Given the description of an element on the screen output the (x, y) to click on. 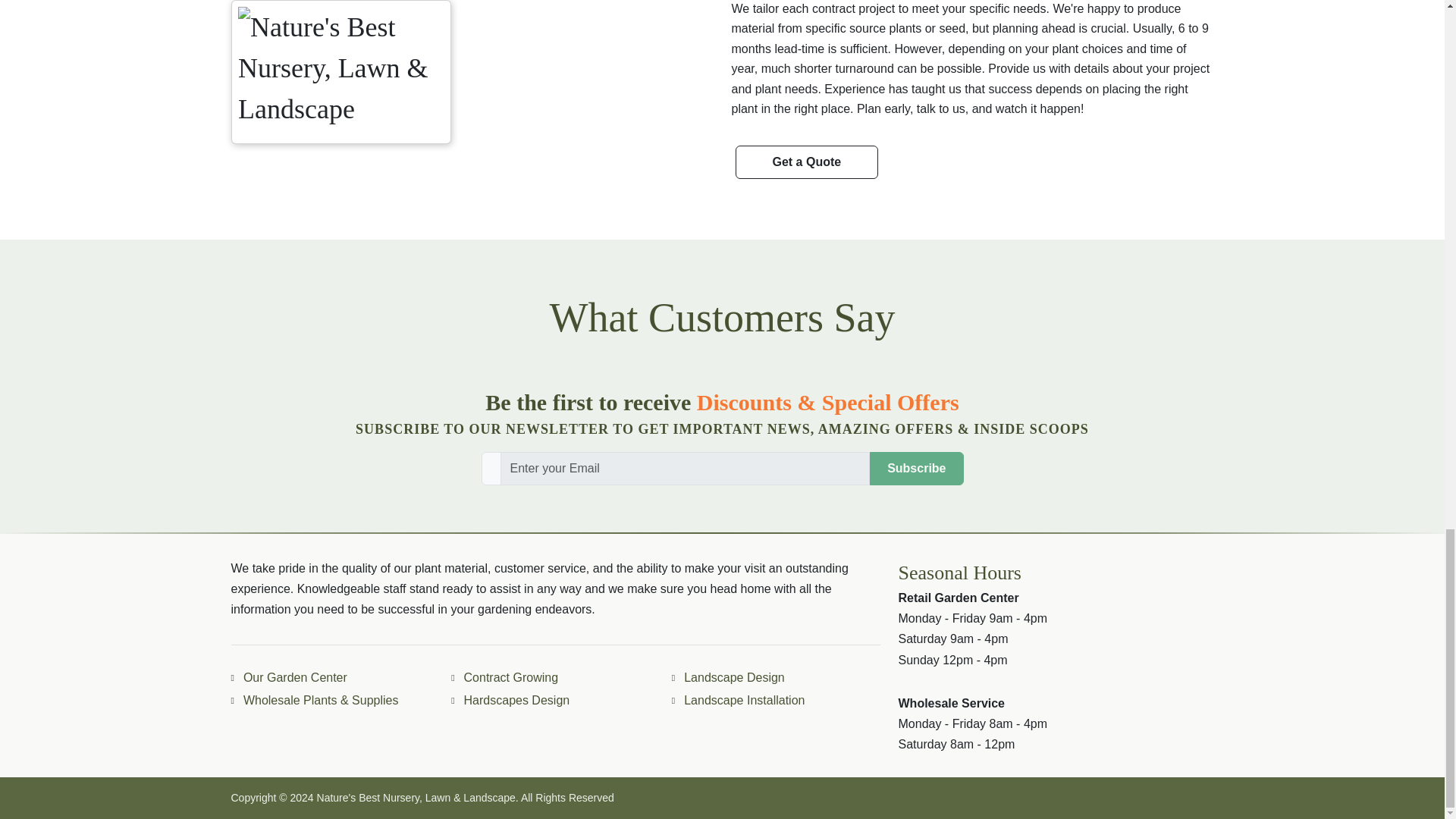
Subscribe (915, 468)
Landscape Installation (741, 700)
Landscape Design (731, 677)
Our Garden Center (292, 677)
Contract Growing (508, 677)
Get a Quote (807, 162)
Hardscapes Design (513, 700)
